Given the description of an element on the screen output the (x, y) to click on. 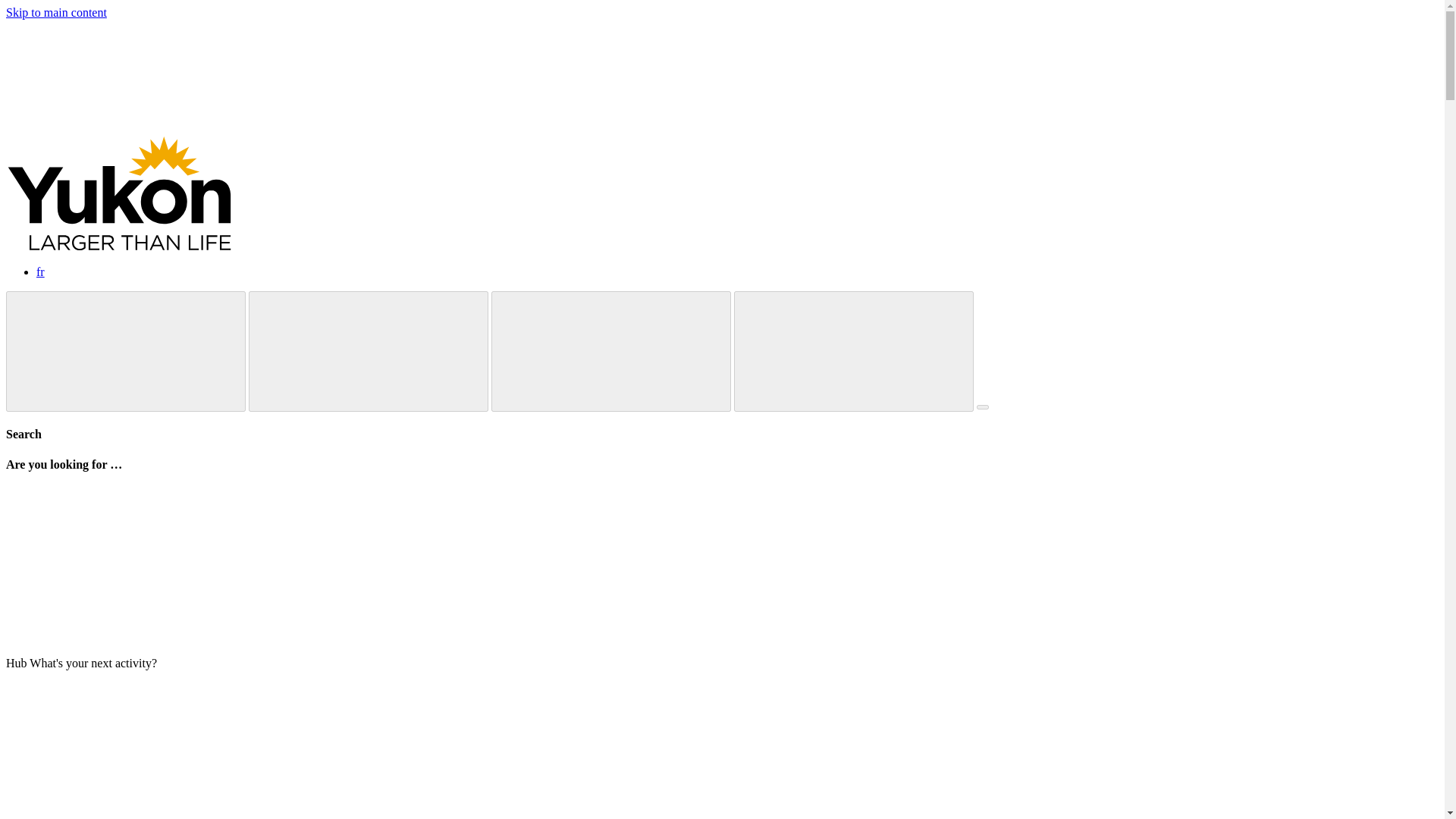
Open favorites panel (367, 351)
Open main menu (982, 406)
Skip to main content (55, 11)
Open global map (125, 351)
Open account panel (853, 351)
Open search panel (611, 351)
